Given the description of an element on the screen output the (x, y) to click on. 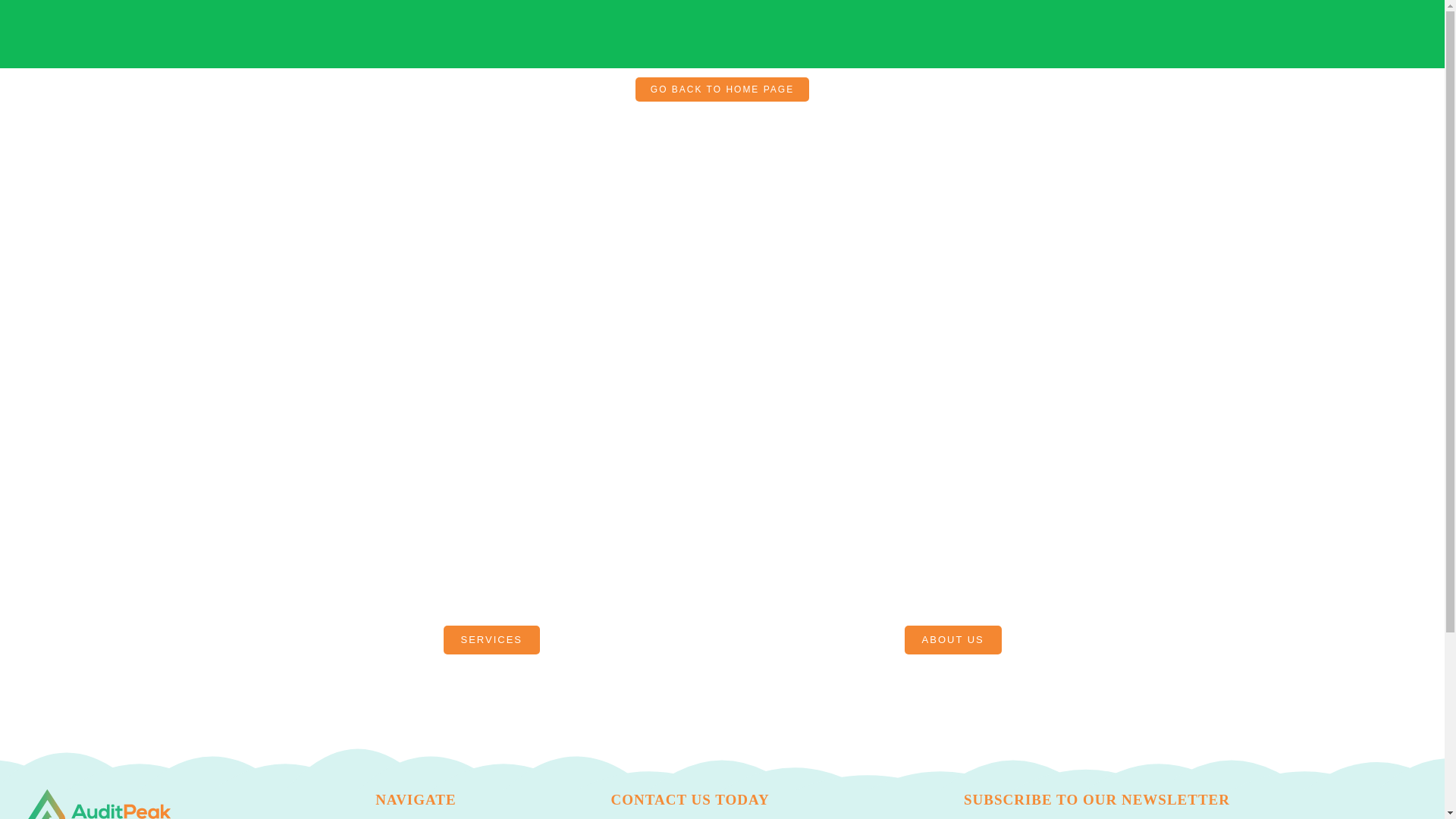
SERVICES (492, 639)
GO BACK TO HOME PAGE (721, 88)
ABOUT US (952, 639)
